Given the description of an element on the screen output the (x, y) to click on. 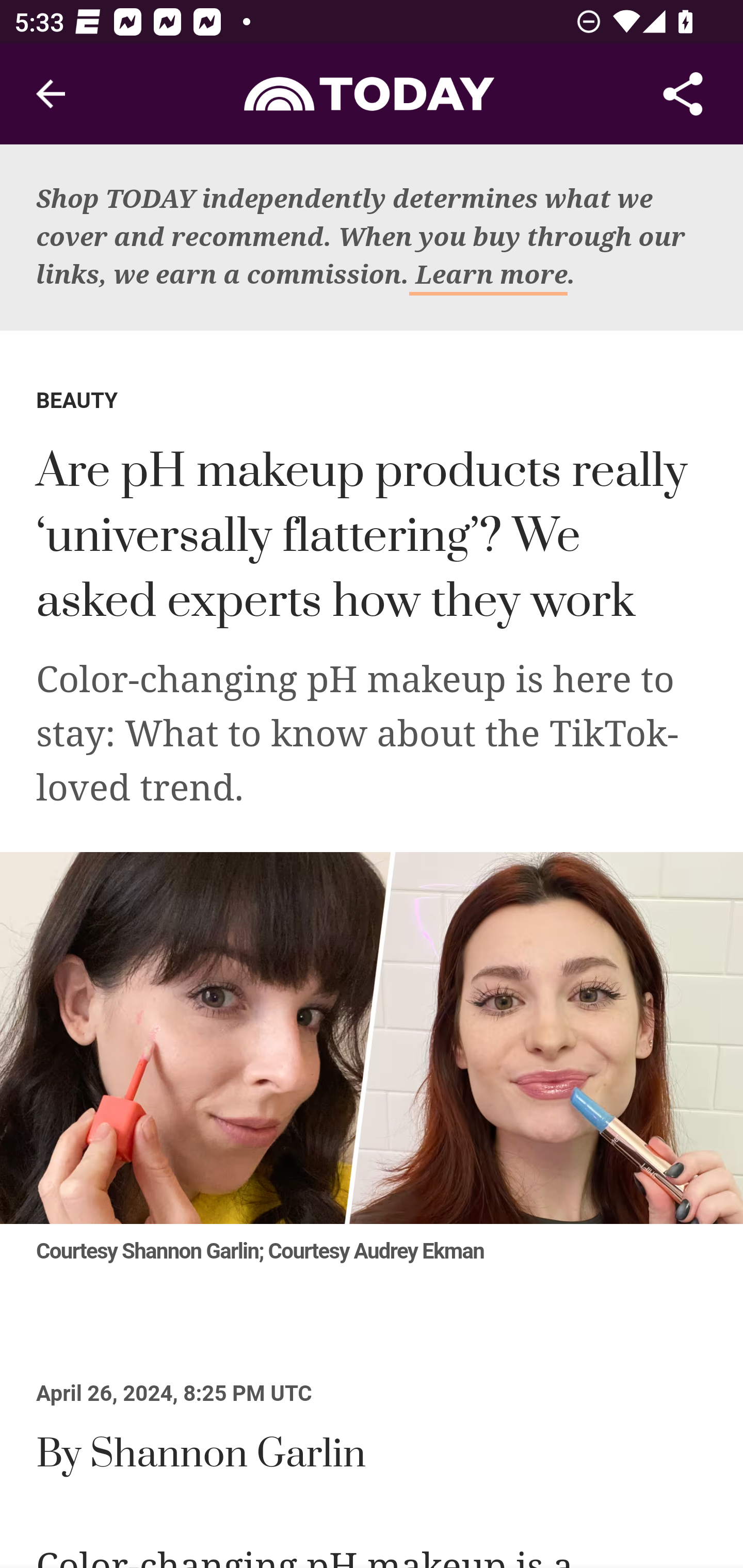
Navigate up (50, 93)
Share Article, button (683, 94)
Header, Today (371, 93)
